Given the description of an element on the screen output the (x, y) to click on. 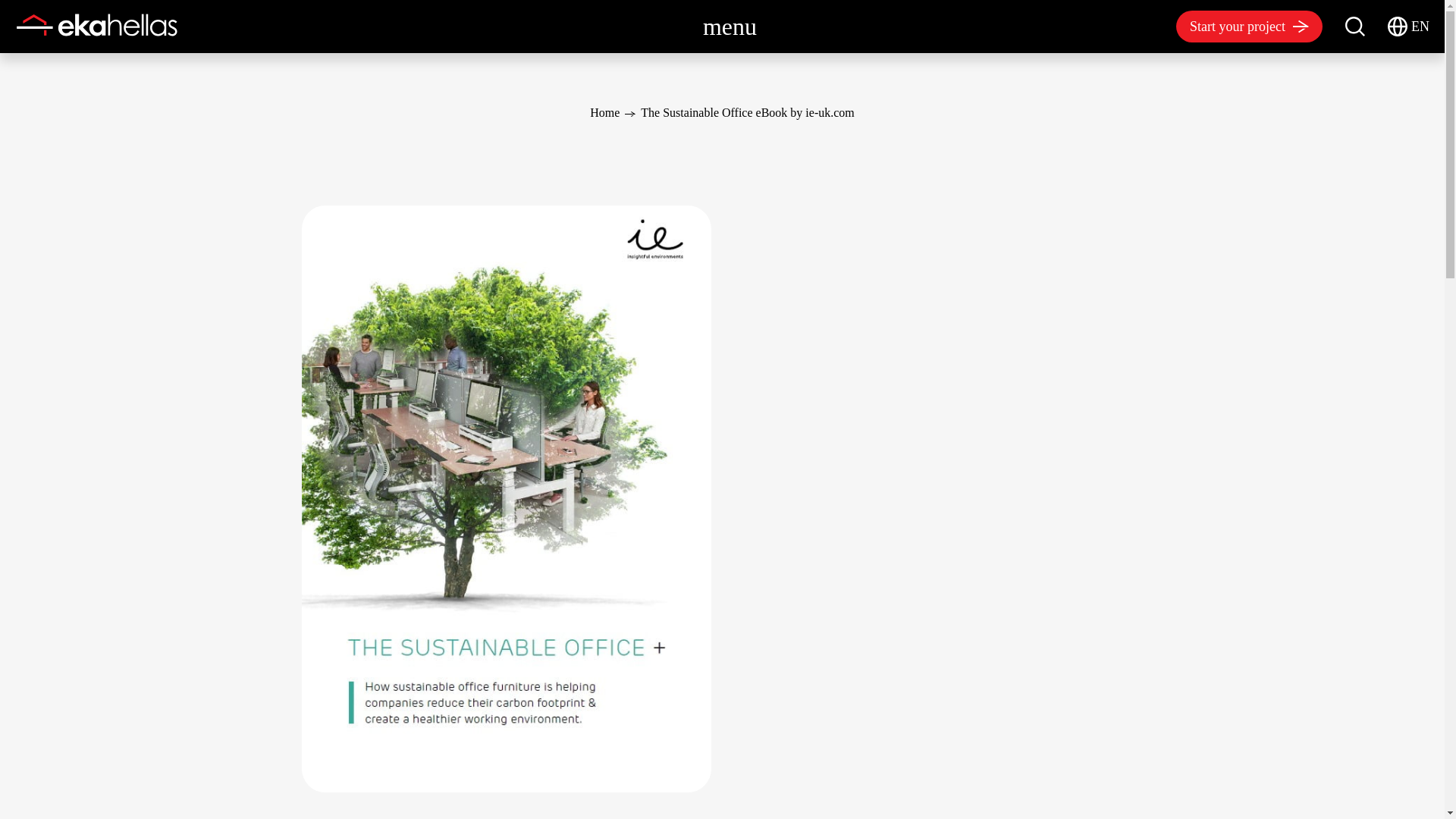
Integrated Office Solution Providers (96, 24)
